Given the description of an element on the screen output the (x, y) to click on. 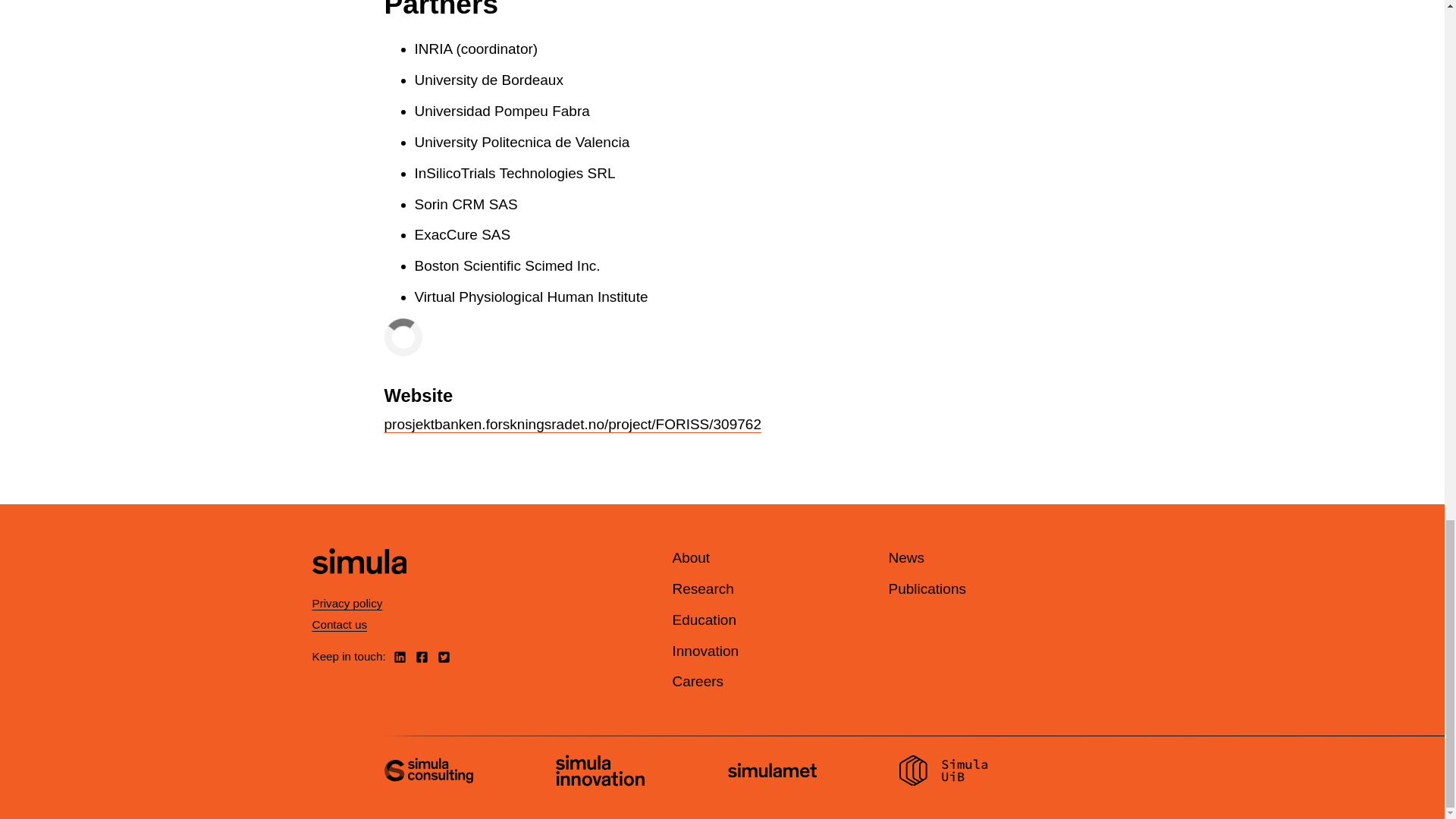
Visit Simula Consulting (427, 772)
Visit Simula Innovation (600, 772)
Main menu, footer (757, 619)
Quick links, footer (974, 572)
Visit Simula Met (772, 772)
Visit Simula UiB (943, 772)
